Given the description of an element on the screen output the (x, y) to click on. 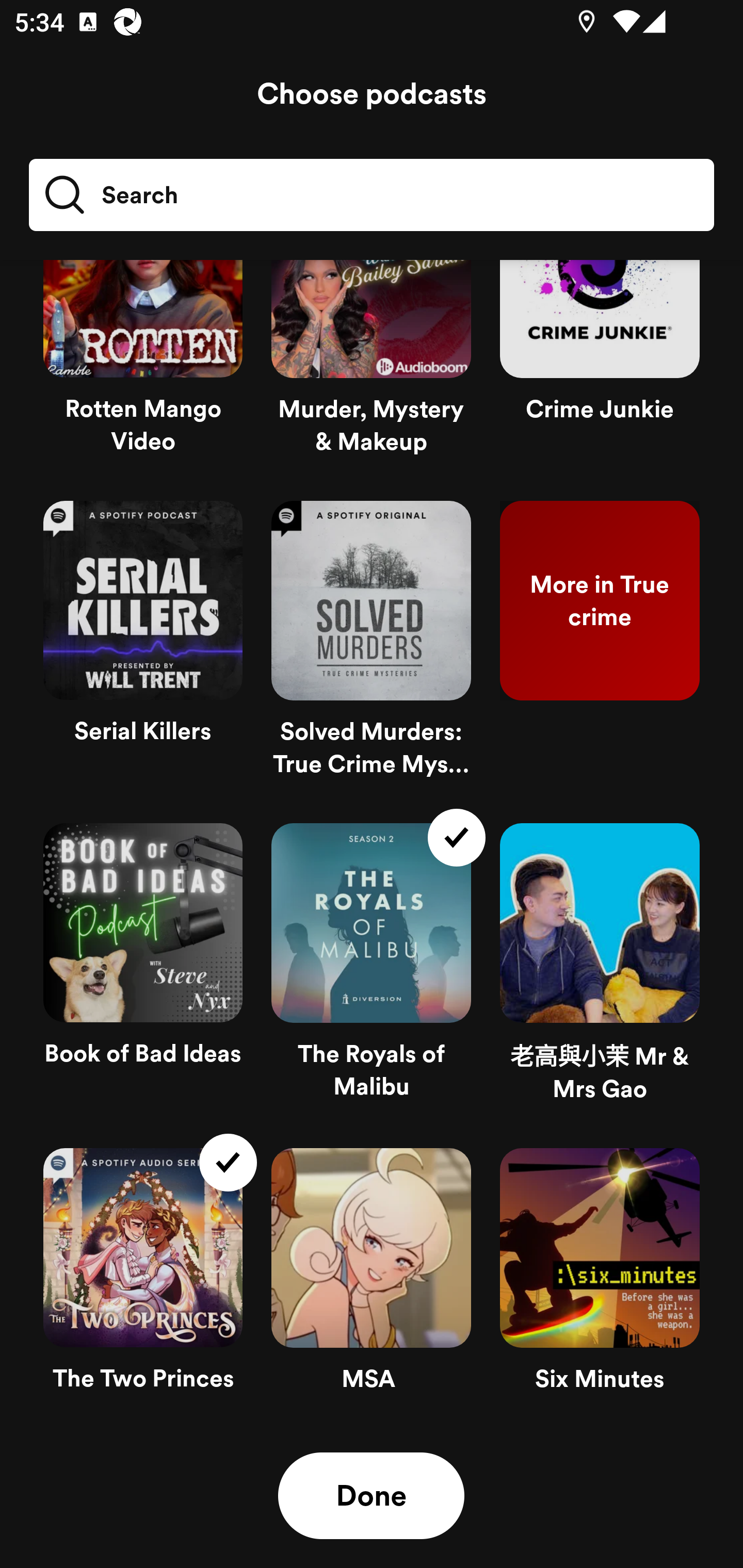
Search (371, 195)
Search (110, 195)
Rotten Mango Video unselected Rotten Mango Video (142, 373)
Crime Junkie unselected Crime Junkie (599, 373)
Serial Killers unselected Serial Killers (142, 647)
More in True crime (599, 647)
Book of Bad Ideas unselected Book of Bad Ideas (142, 971)
The Royals of Malibu selected The Royals of Malibu (371, 971)
老高與小茉 Mr & Mrs Gao unselected 老高與小茉 Mr & Mrs Gao (599, 971)
The Two Princes selected The Two Princes (142, 1278)
MSA  unselected MSA  (371, 1278)
Six Minutes unselected Six Minutes (599, 1278)
Done (370, 1495)
